Given the description of an element on the screen output the (x, y) to click on. 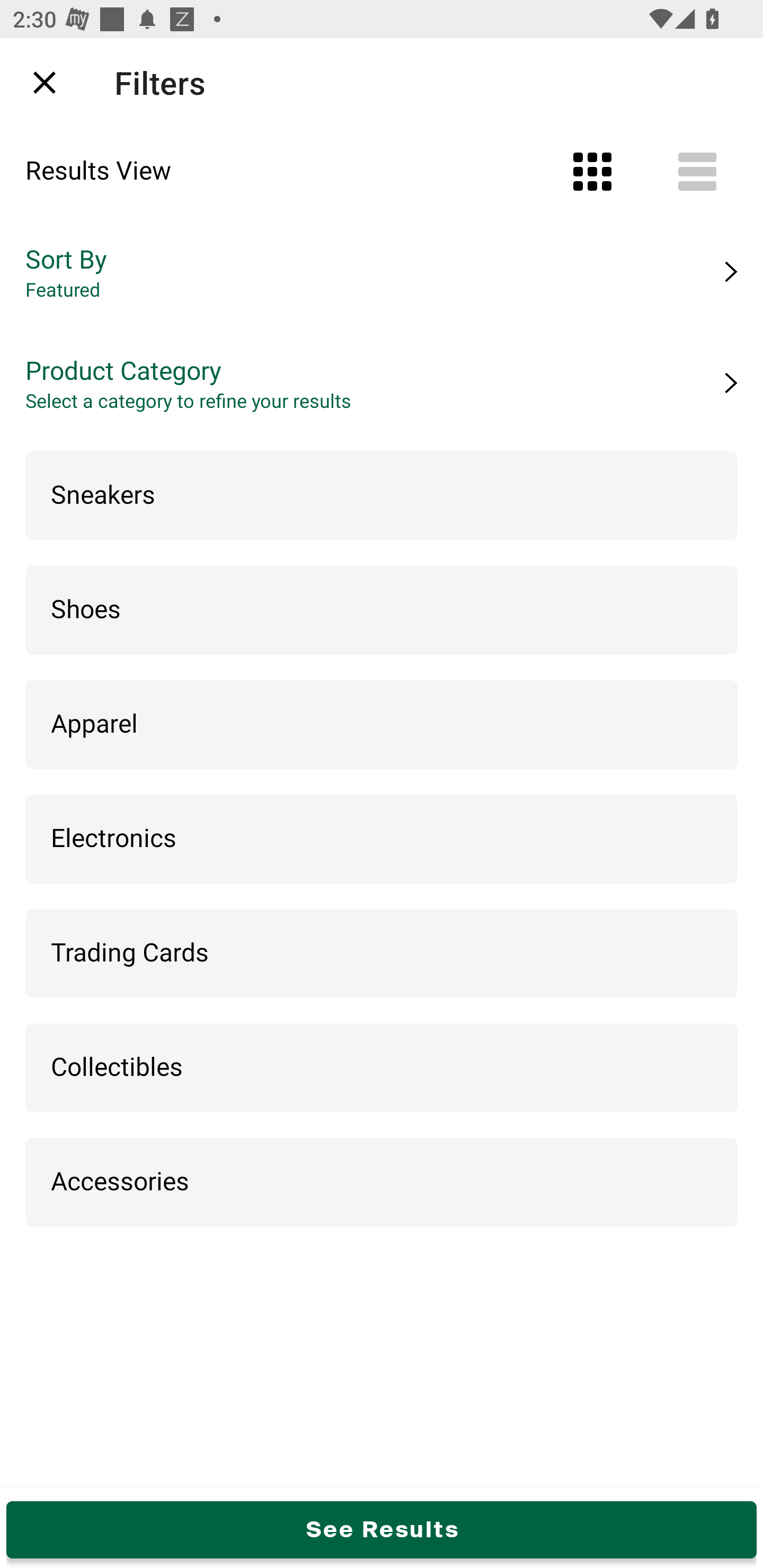
puma (370, 82)
Grid View (591, 171)
List View (697, 171)
Sort By Featured Next (381, 271)
Sneakers (381, 496)
Shoes (381, 610)
Apparel (381, 724)
Electronics (381, 839)
Trading Cards (381, 953)
Collectibles (381, 1068)
Accessories (381, 1182)
See Results (381, 1529)
